Given the description of an element on the screen output the (x, y) to click on. 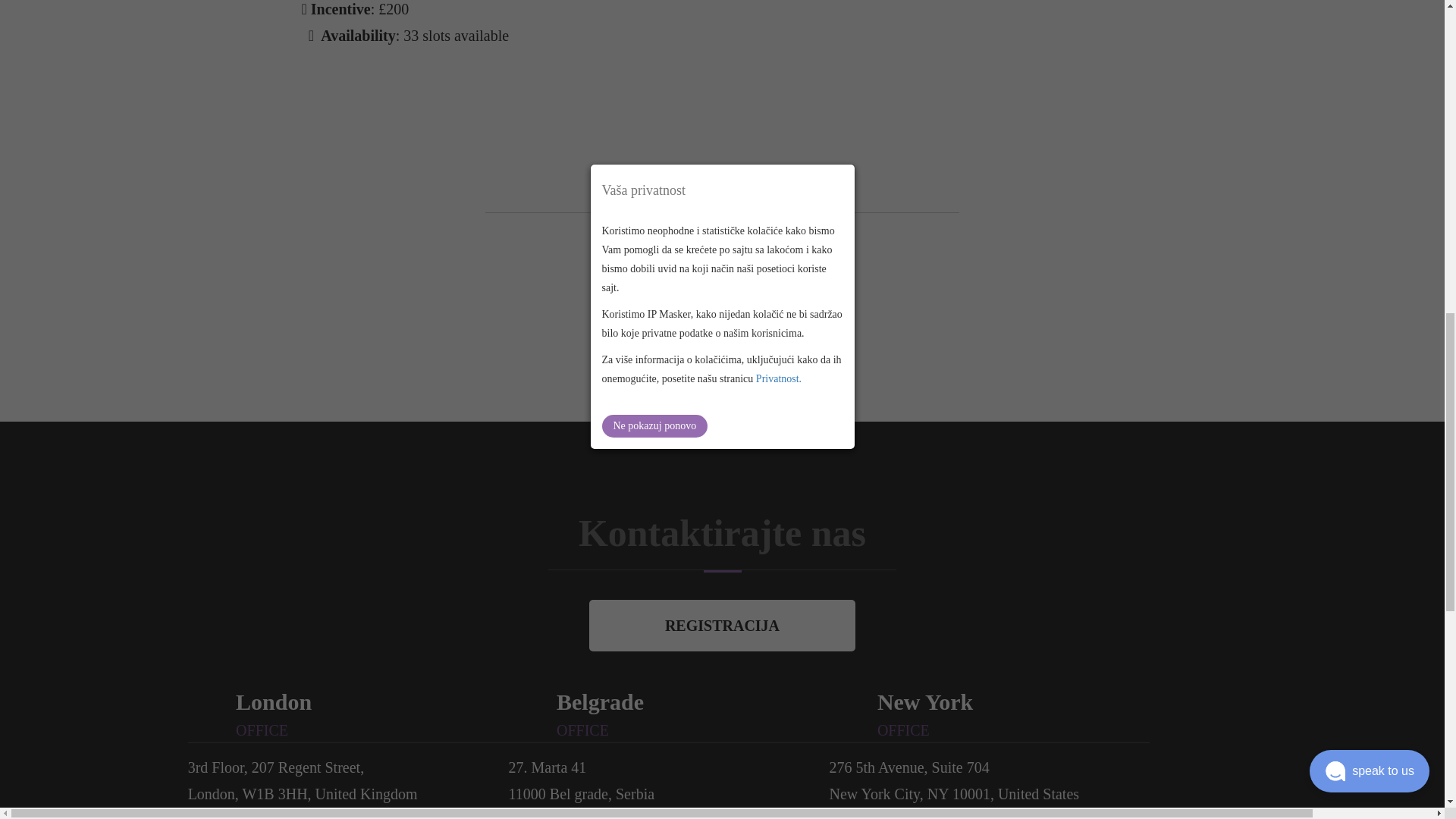
REGISTRACIJA (722, 625)
